Given the description of an element on the screen output the (x, y) to click on. 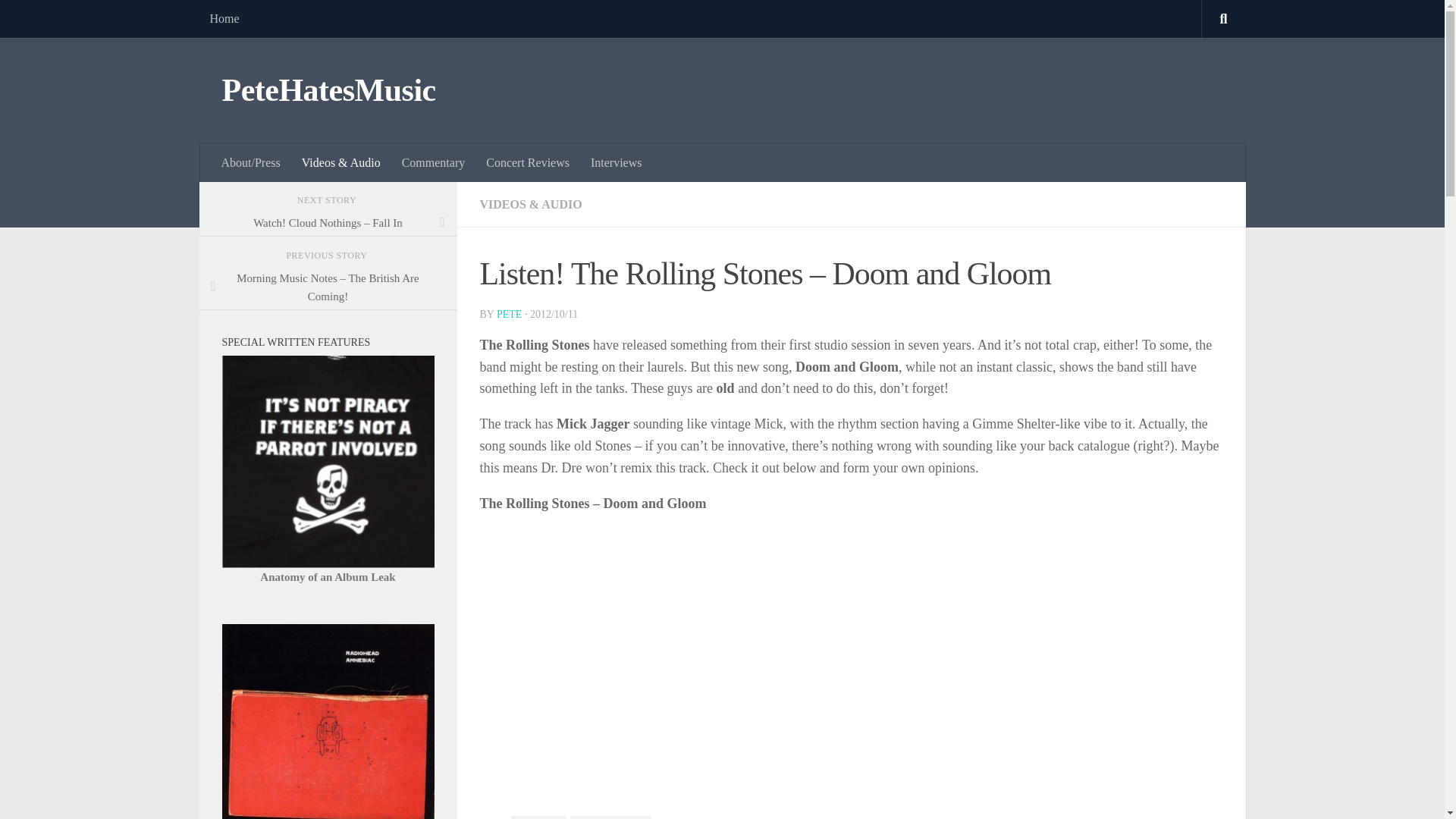
Commentary (433, 162)
Skip to content (59, 20)
Mick Jagger (539, 817)
PeteHatesMusic (328, 90)
Posts by Pete (508, 314)
Interviews (615, 162)
Concert Reviews (527, 162)
Anatomy of an Album Leak (327, 576)
Home (223, 18)
The Rolling Stones (610, 817)
PETE (508, 314)
